Given the description of an element on the screen output the (x, y) to click on. 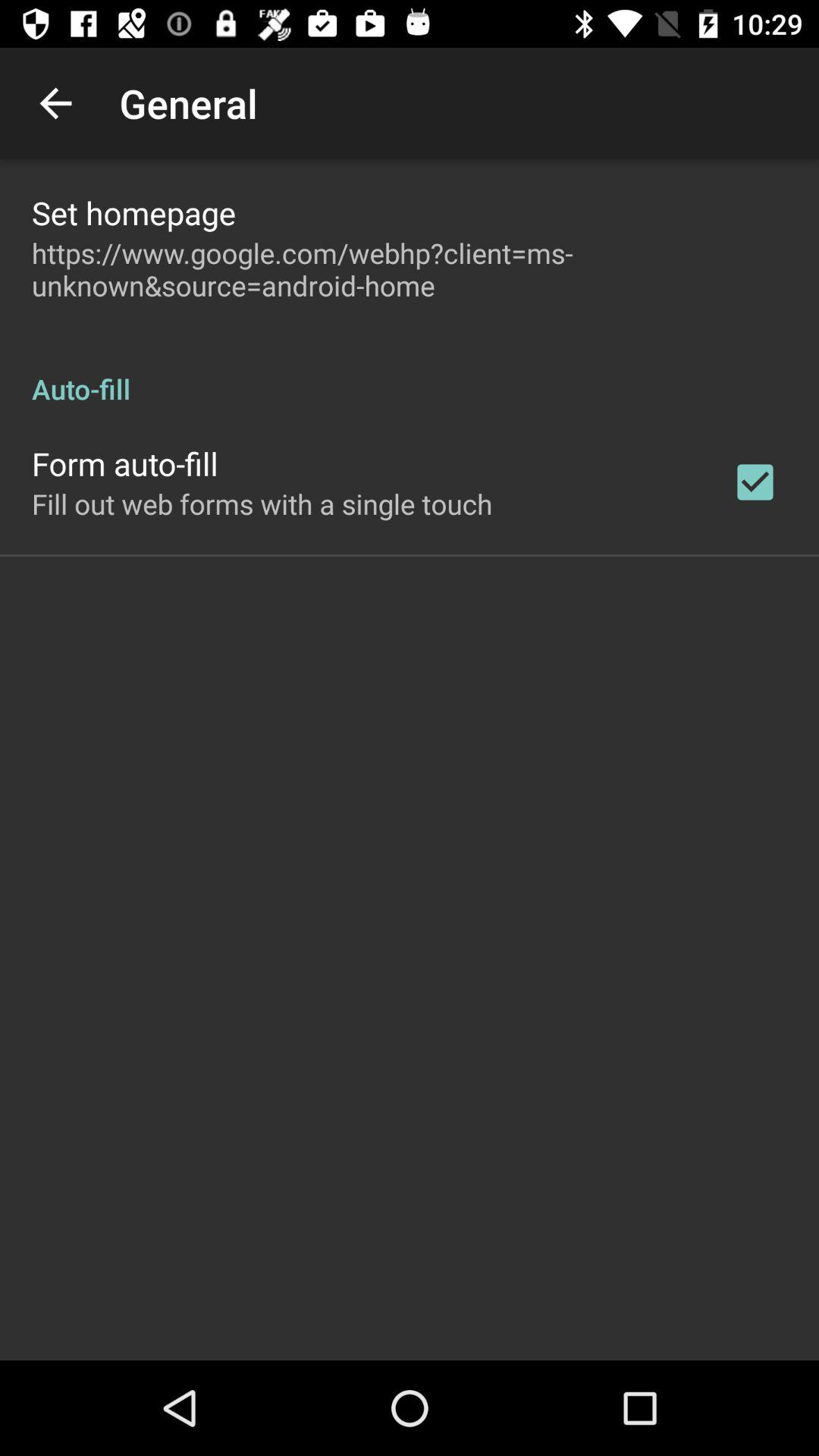
turn on the https www google item (409, 269)
